Given the description of an element on the screen output the (x, y) to click on. 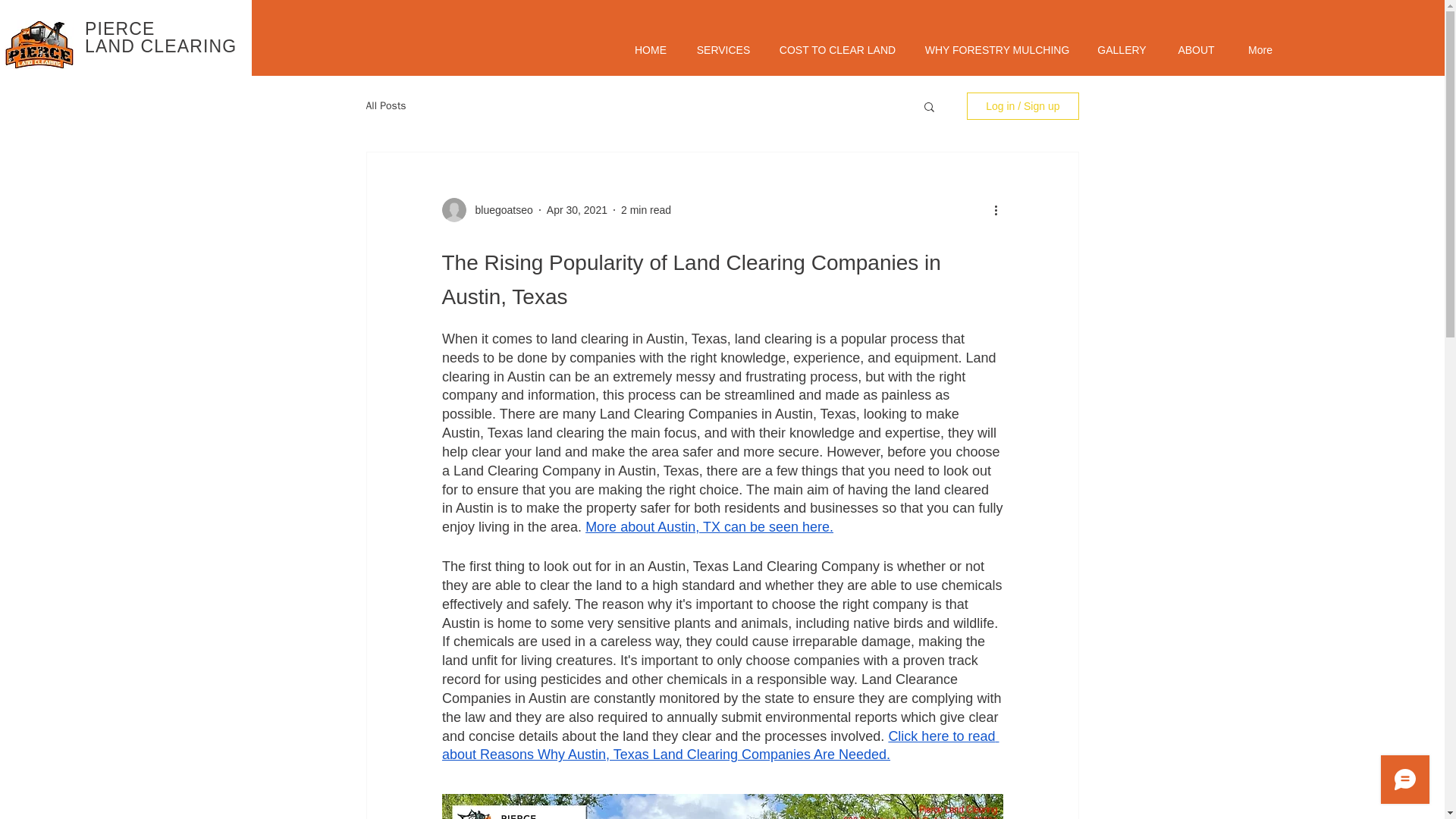
LAND CLEARING (159, 46)
bluegoatseo (498, 209)
GALLERY (1121, 50)
WHY FORESTRY MULCHING (997, 50)
SERVICES (722, 50)
Apr 30, 2021 (577, 209)
COST TO CLEAR LAND (836, 50)
HOME (649, 50)
PIERCE (119, 28)
ABOUT (1195, 50)
More about Austin, TX can be seen here. (708, 526)
2 min read (646, 209)
All Posts (385, 106)
